Given the description of an element on the screen output the (x, y) to click on. 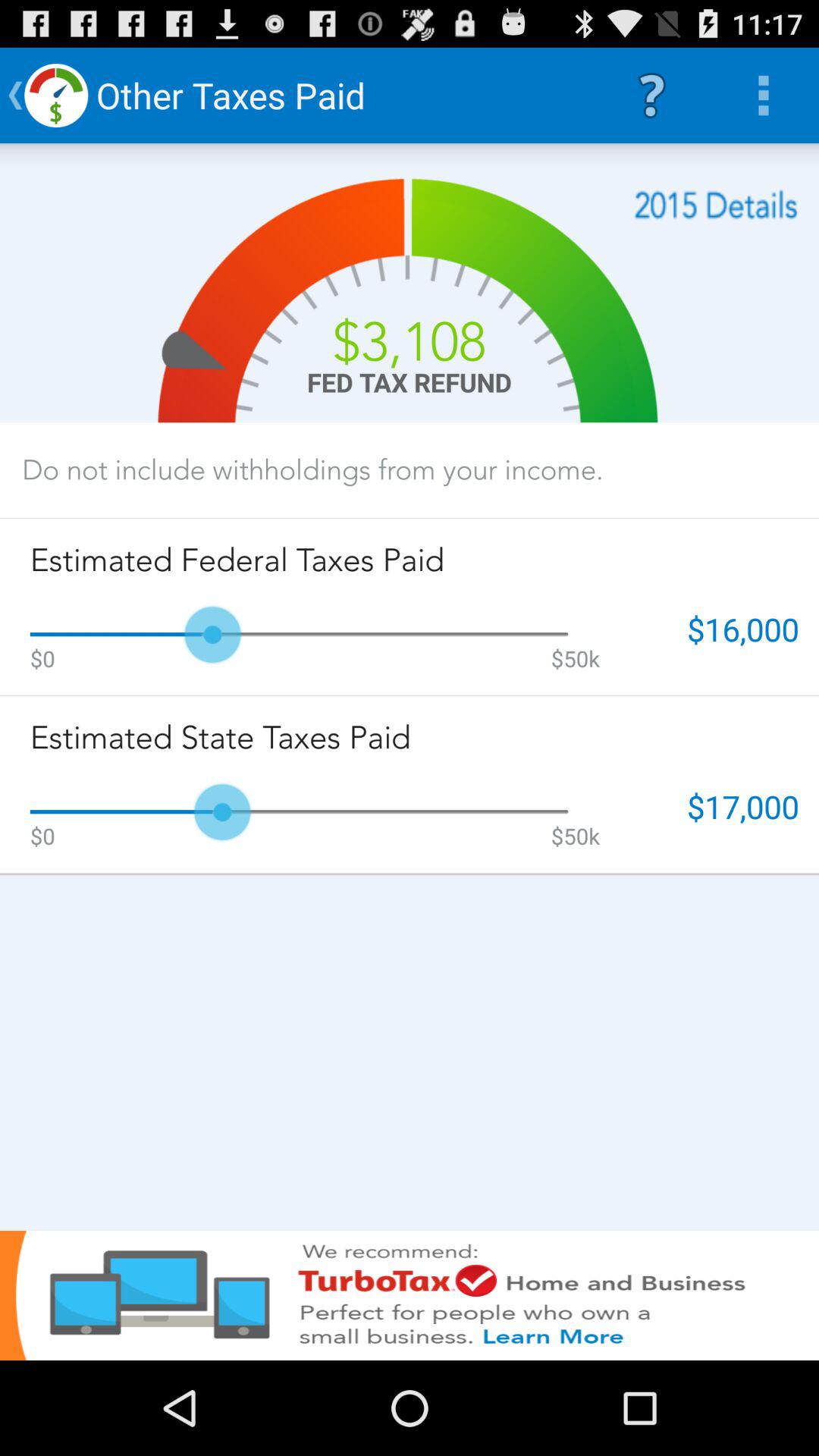
launch the icon to the right of the other taxes paid item (651, 95)
